Given the description of an element on the screen output the (x, y) to click on. 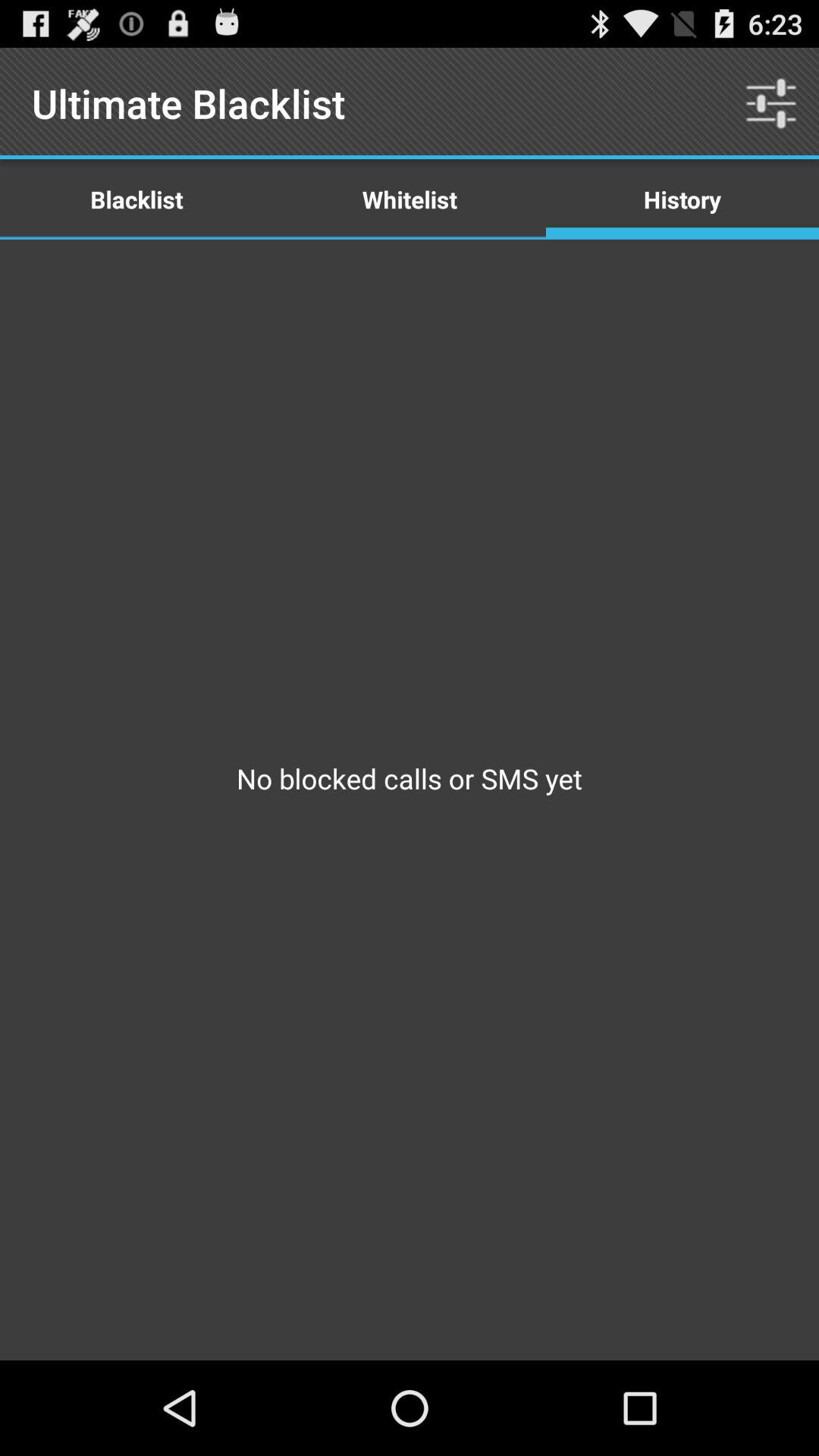
select item to the left of the history (409, 199)
